Given the description of an element on the screen output the (x, y) to click on. 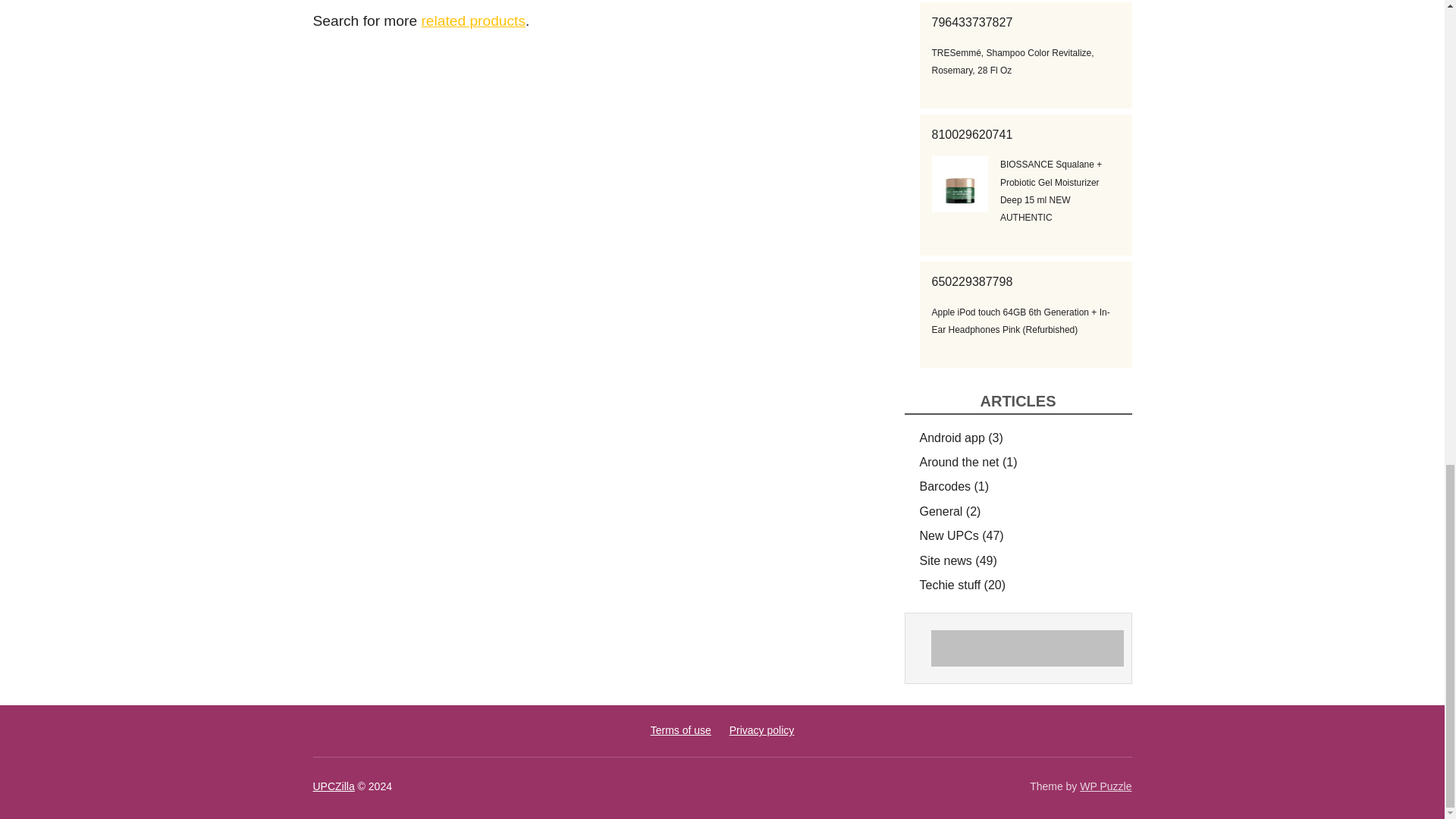
related products (472, 20)
